Given the description of an element on the screen output the (x, y) to click on. 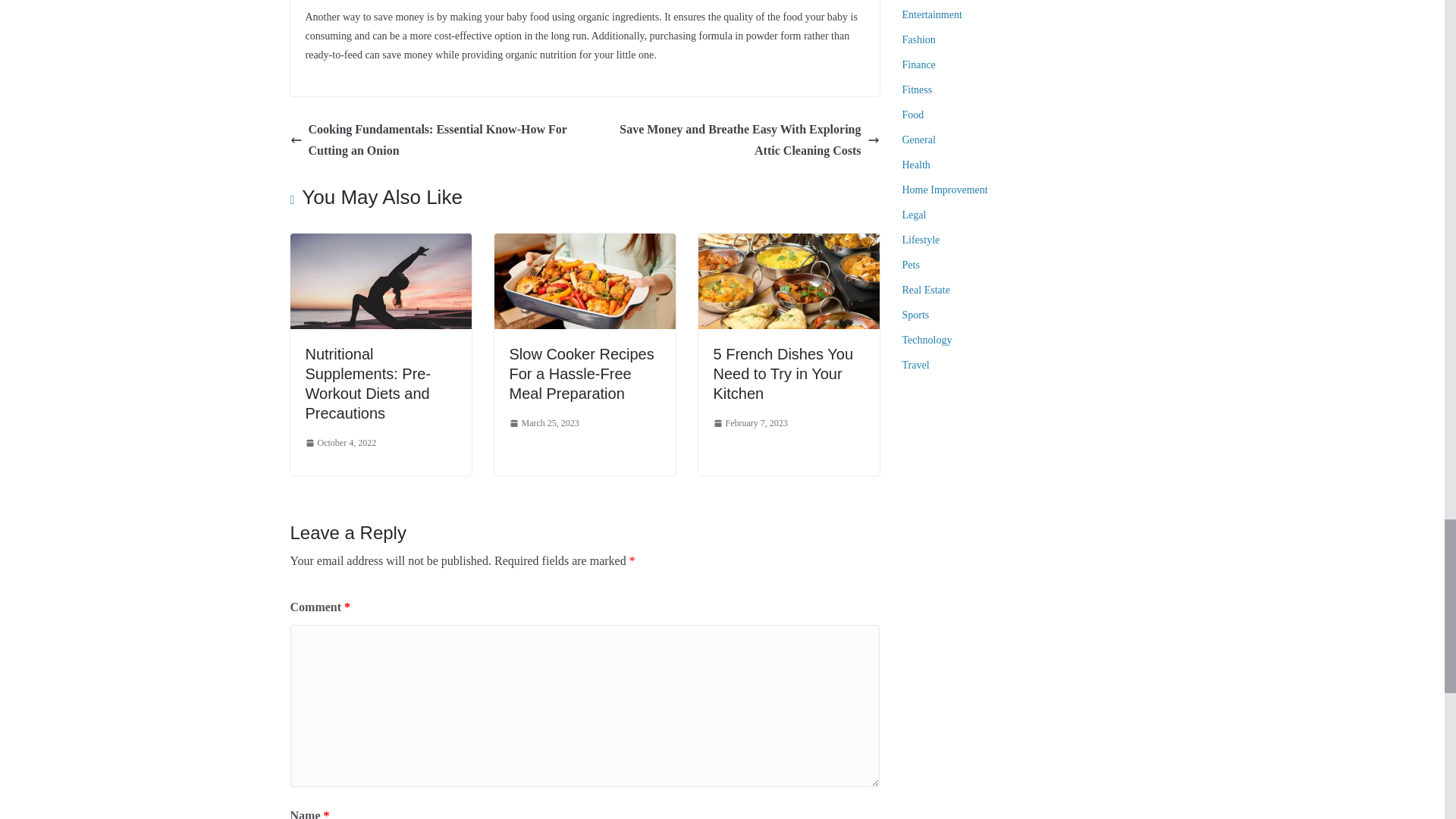
Slow Cooker Recipes For a Hassle-Free Meal Preparation (581, 373)
Nutritional Supplements: Pre-Workout Diets and Precautions (367, 383)
5 French Dishes You Need to Try in Your Kitchen (783, 373)
February 7, 2023 (750, 423)
Nutritional Supplements (379, 281)
October 4, 2022 (339, 443)
March 25, 2023 (544, 423)
Nutritional Supplements: Pre-Workout Diets and Precautions (379, 243)
